Given the description of an element on the screen output the (x, y) to click on. 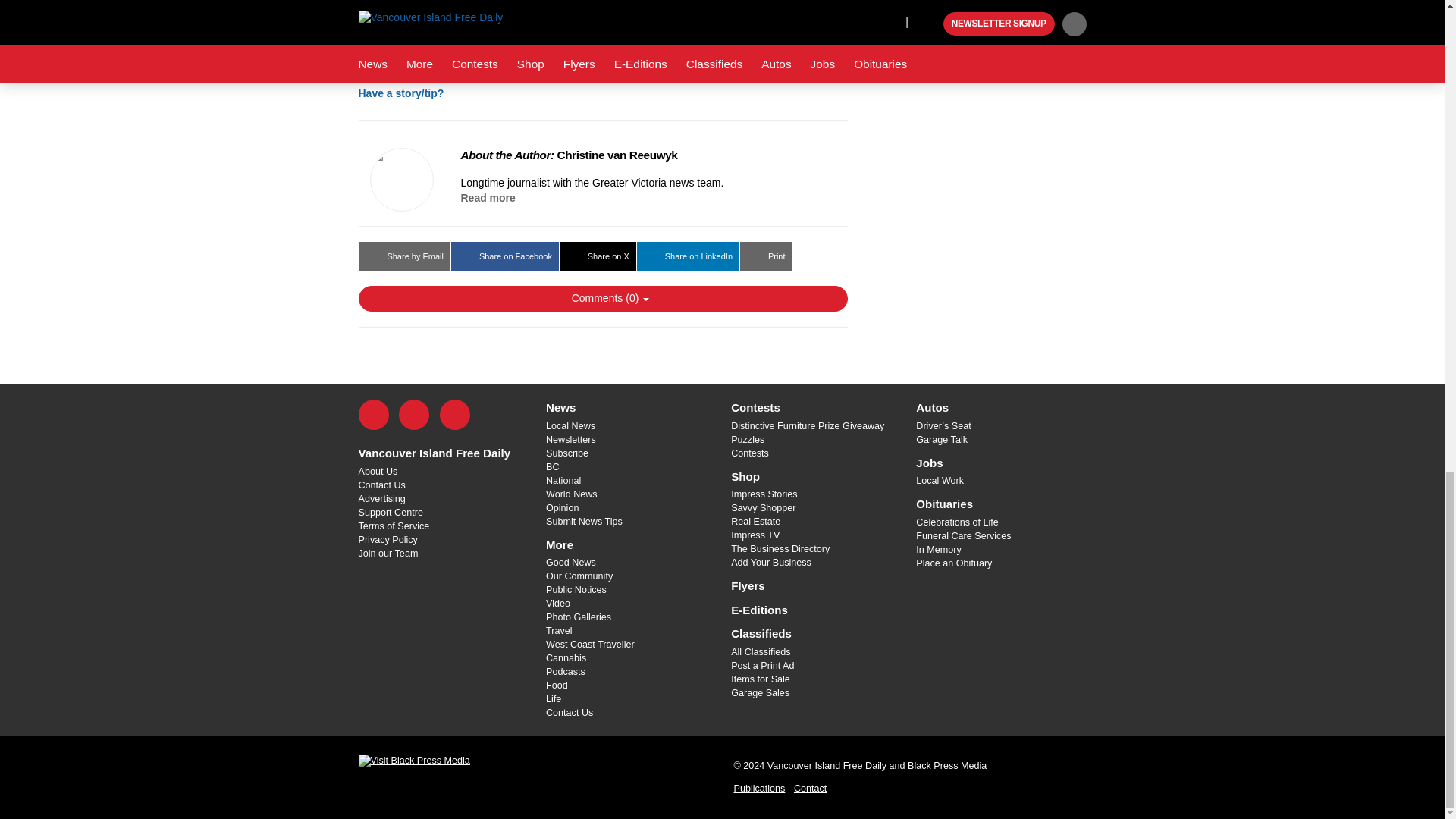
X (413, 414)
Facebook (373, 414)
Instagram (454, 414)
Show Comments (602, 298)
